Given the description of an element on the screen output the (x, y) to click on. 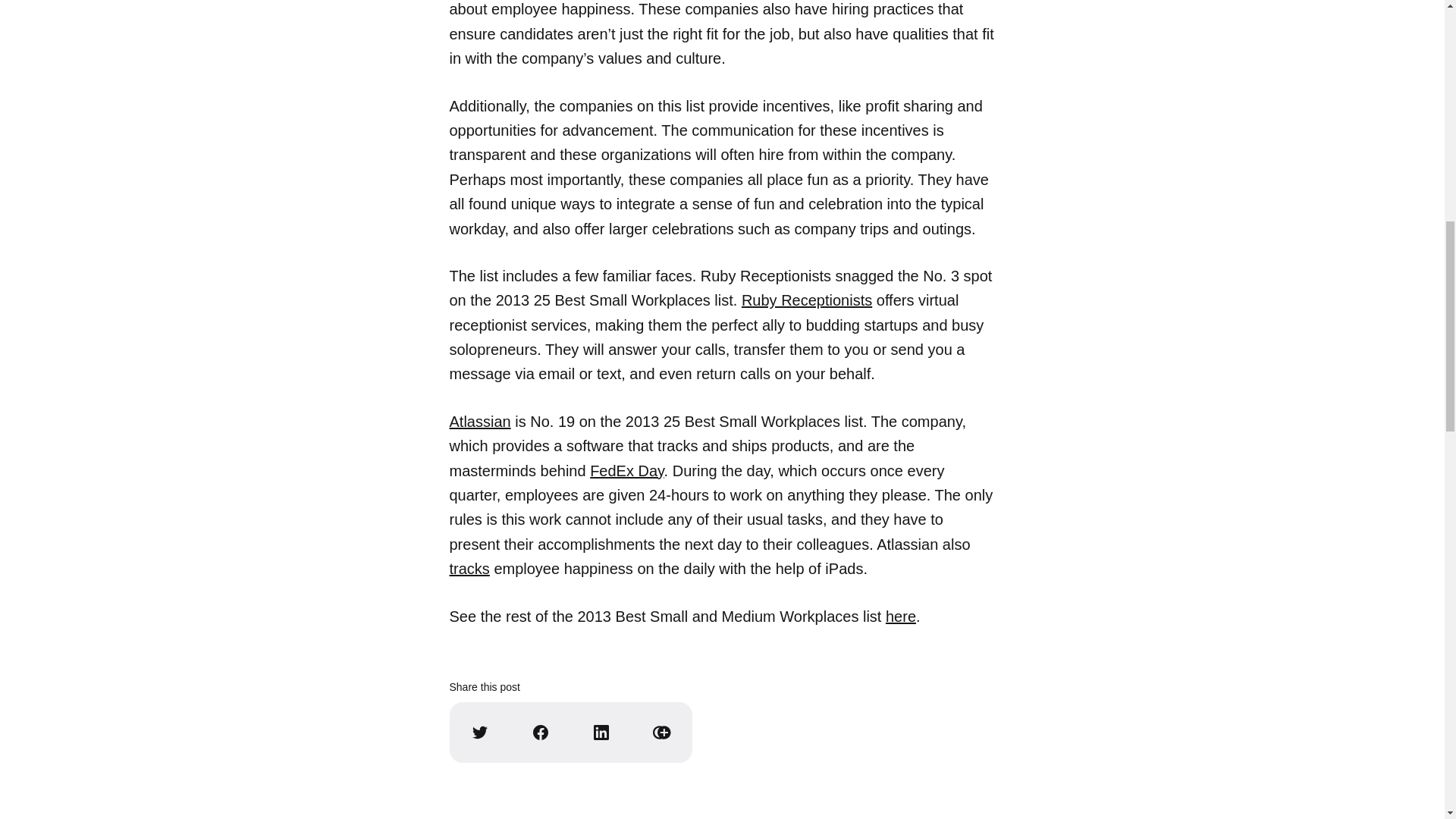
Ruby Receptionists (806, 299)
here (900, 616)
tracks (468, 568)
FedEx Day (626, 470)
Atlassian (479, 421)
